Given the description of an element on the screen output the (x, y) to click on. 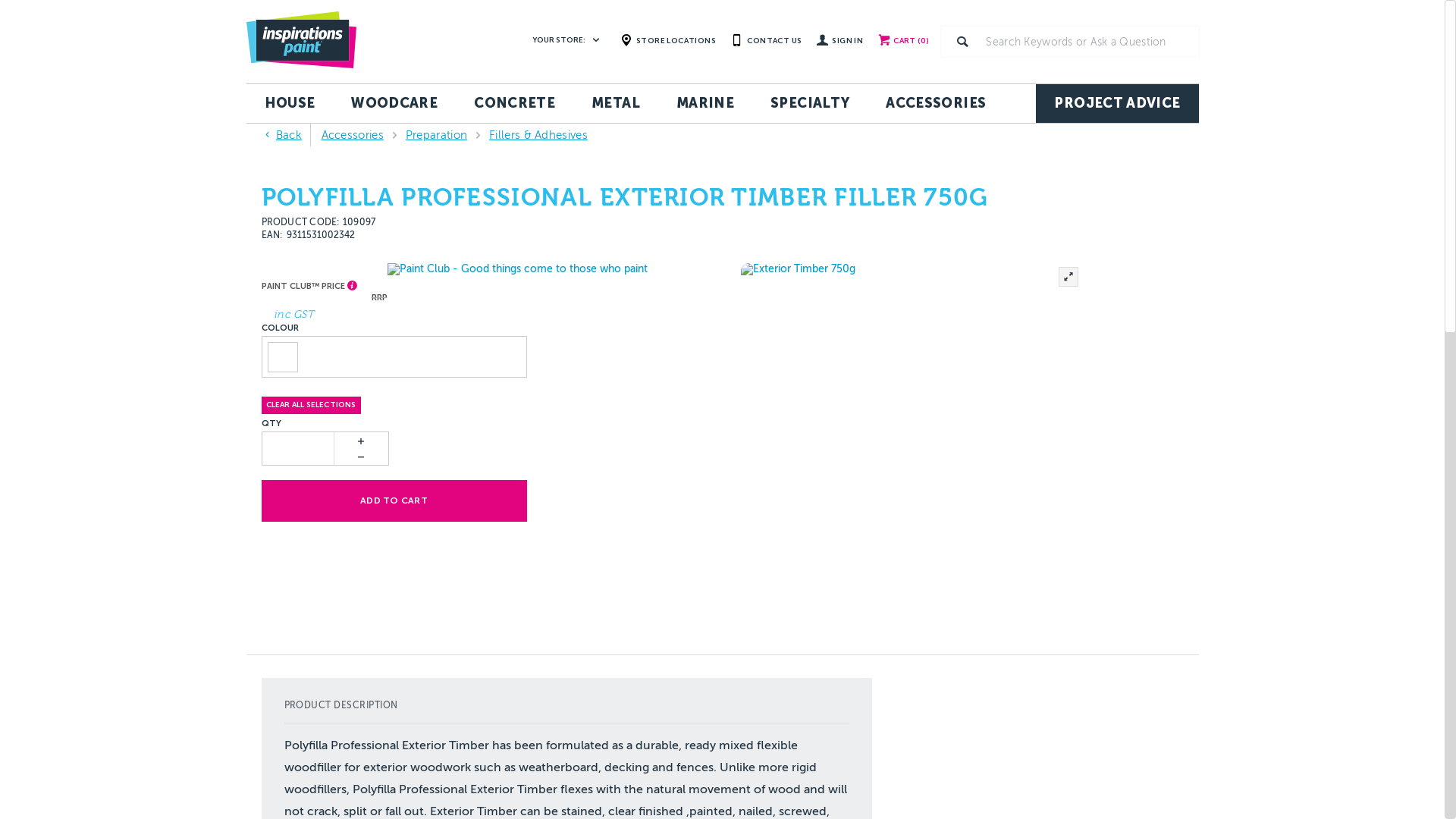
Exterior Timber 750g Element type: hover (911, 433)
SIGN IN Element type: text (839, 42)
Fillers & Adhesives Element type: text (538, 134)
ADD TO CART Element type: text (393, 501)
Back Element type: text (280, 134)
STORE LOCATIONS Element type: text (667, 40)
ACCESSORIES Element type: text (935, 103)
Preparation Element type: text (436, 134)
MARINE Element type: text (705, 103)
HOUSE Element type: text (288, 103)
CONCRETE Element type: text (514, 103)
CART (0) Element type: text (899, 42)
METAL Element type: text (615, 103)
WOODCARE Element type: text (393, 103)
SPECIALTY Element type: text (809, 103)
CONTACT US Element type: text (766, 40)
PROJECT ADVICE Element type: text (1116, 103)
Accessories Element type: text (352, 134)
